Given the description of an element on the screen output the (x, y) to click on. 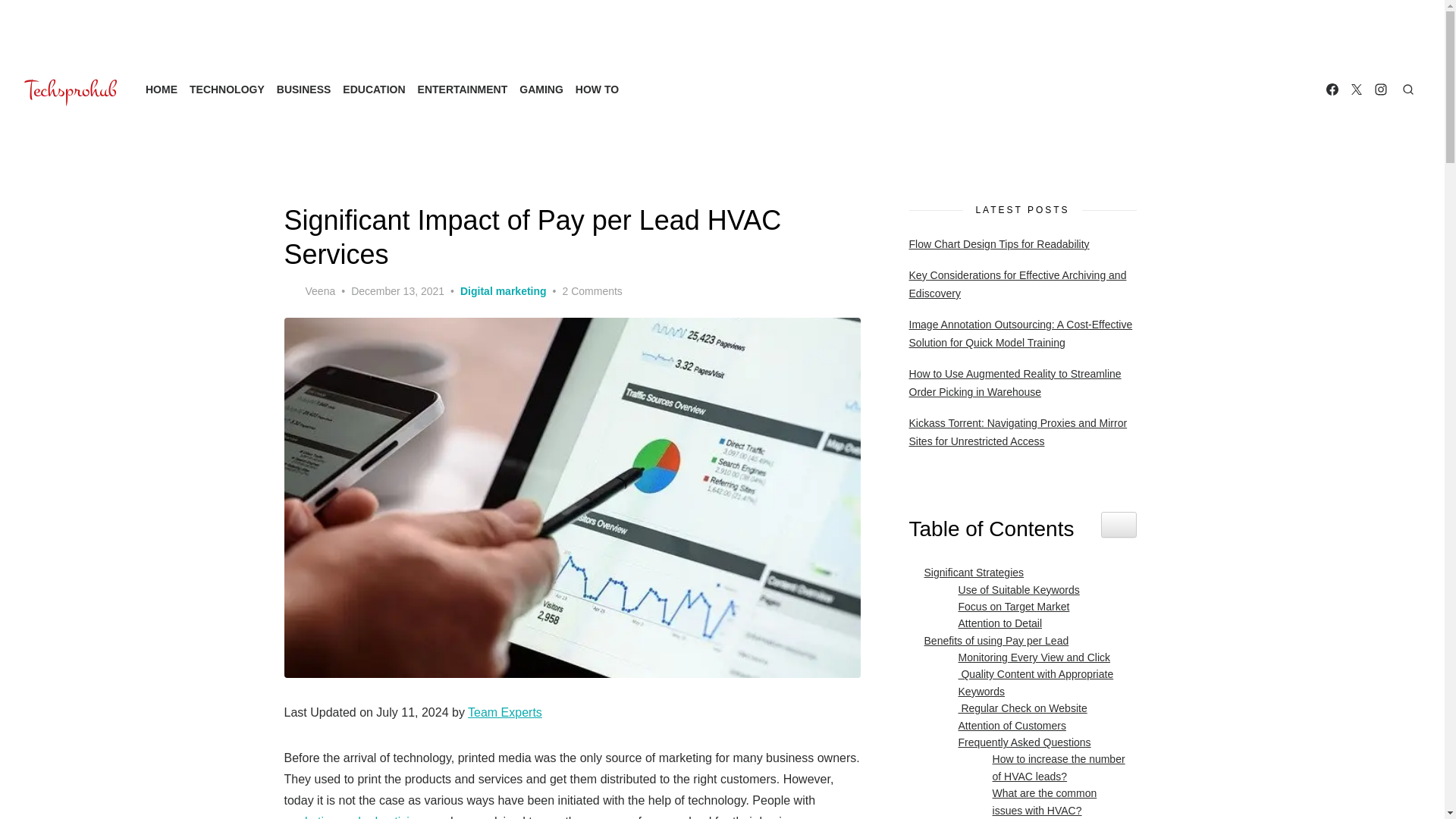
Focus on Target Market (1010, 606)
Monitoring Every View and Click (1030, 657)
TECHNOLOGY (226, 88)
Team Experts (504, 712)
Significant Strategies (971, 572)
GAMING (541, 88)
HOME (161, 88)
December 13, 2021 (397, 291)
BUSINESS (303, 88)
ENTERTAINMENT (462, 88)
